Given the description of an element on the screen output the (x, y) to click on. 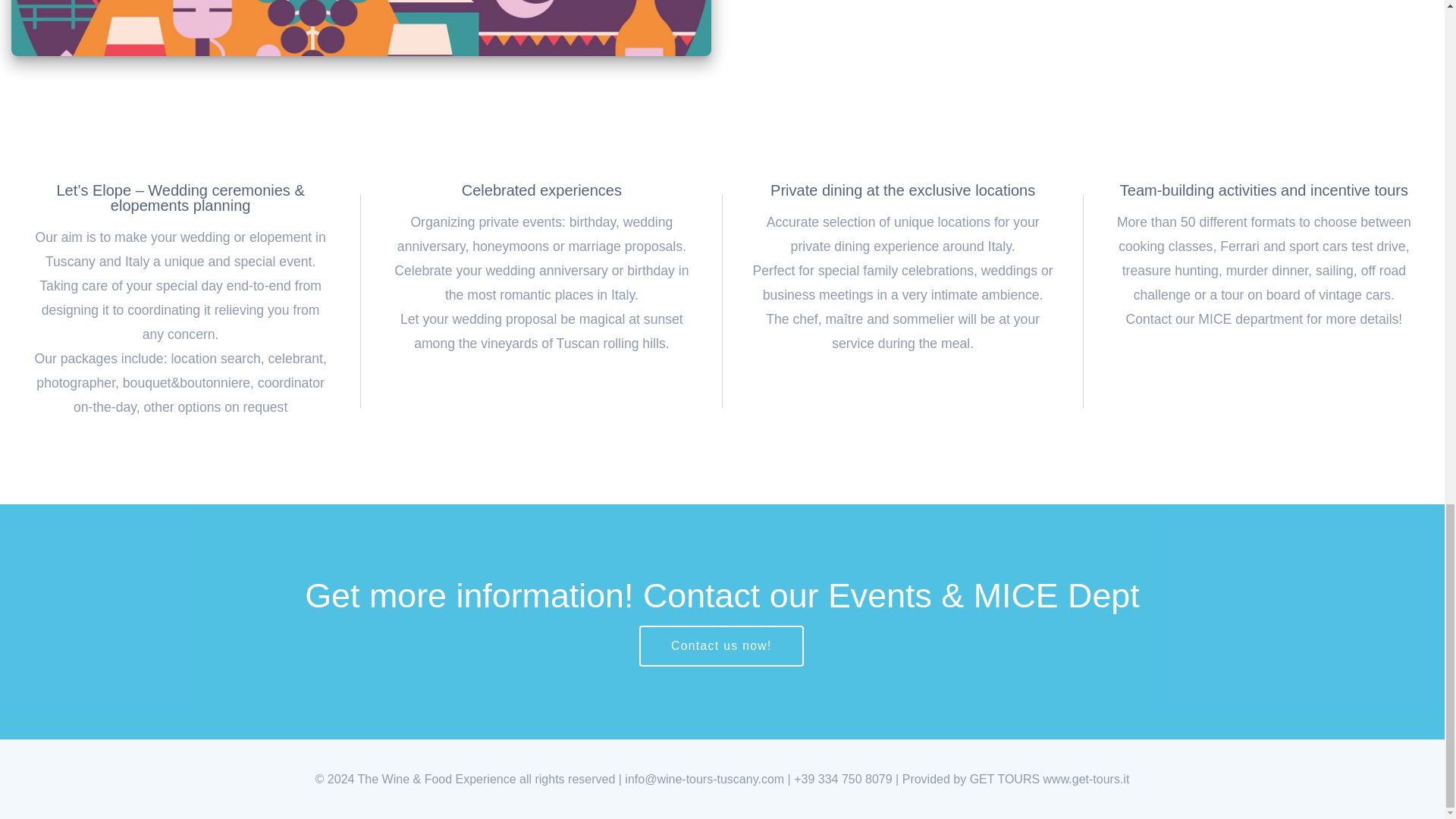
Contact us now! (721, 645)
